Given the description of an element on the screen output the (x, y) to click on. 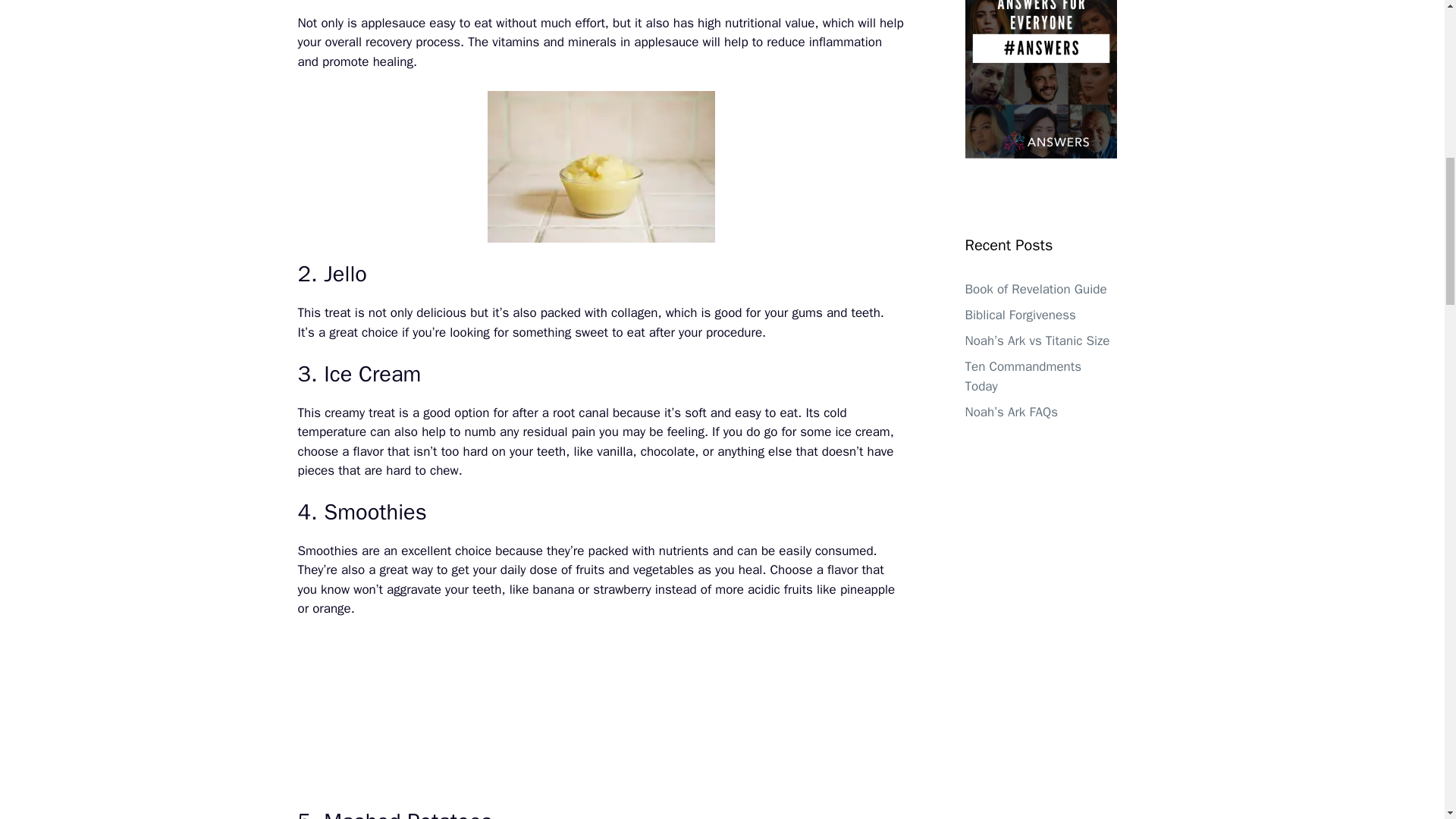
Book of Revelation Guide (1034, 289)
Scroll back to top (1406, 720)
things to eat after a root canal - Answers For Everyone (600, 166)
things to eat after a root canal - Answers For Everyone (600, 713)
Ten Commandments Today (1021, 375)
Biblical Forgiveness (1019, 314)
vanilla (613, 451)
teeth (864, 312)
